Given the description of an element on the screen output the (x, y) to click on. 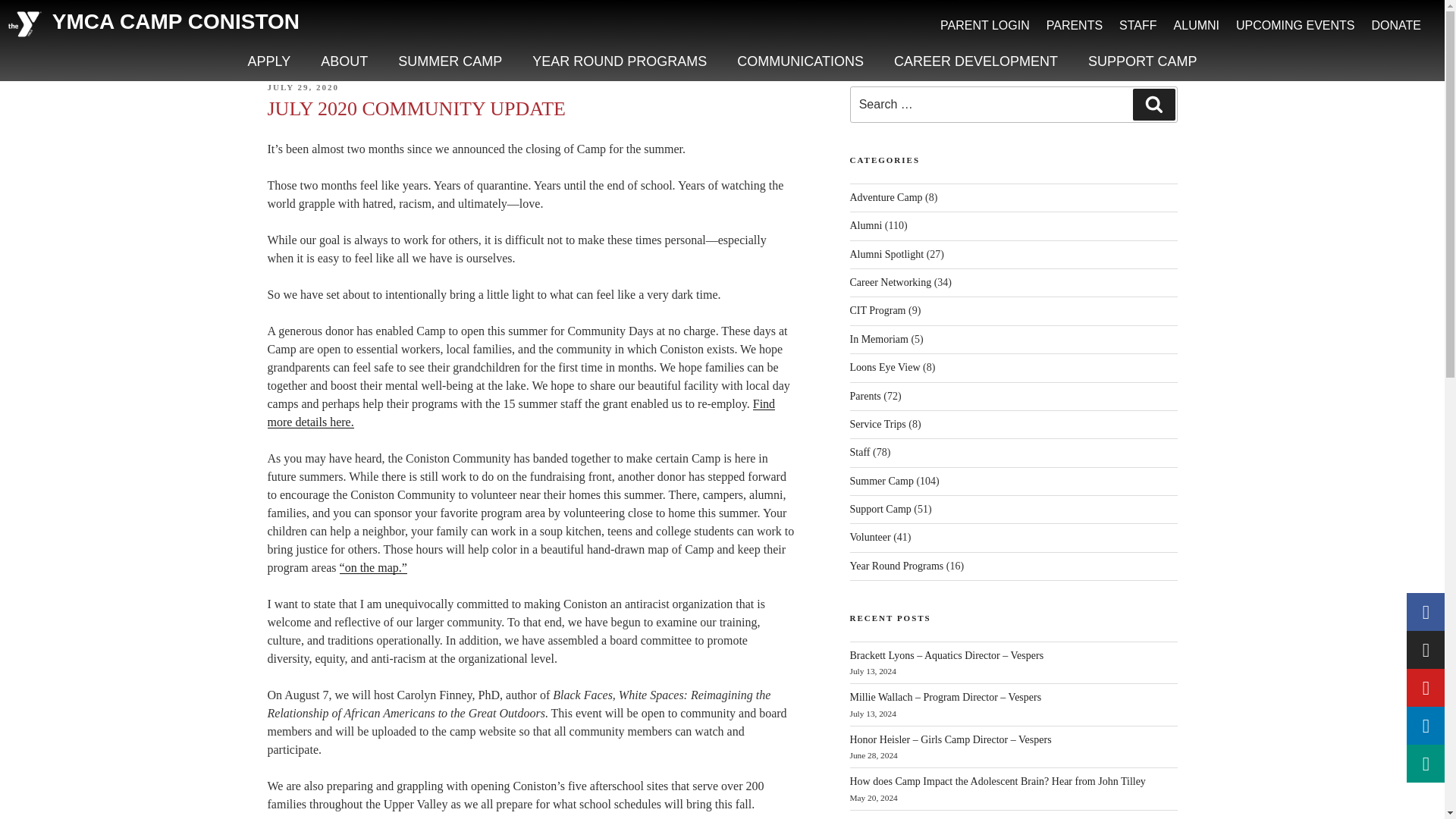
YMCA CAMP CONISTON (175, 21)
PARENTS (1074, 25)
DONATE (1395, 25)
PARENT LOGIN (984, 25)
UPCOMING EVENTS (1294, 25)
ALUMNI (1196, 25)
STAFF (1137, 25)
